Given the description of an element on the screen output the (x, y) to click on. 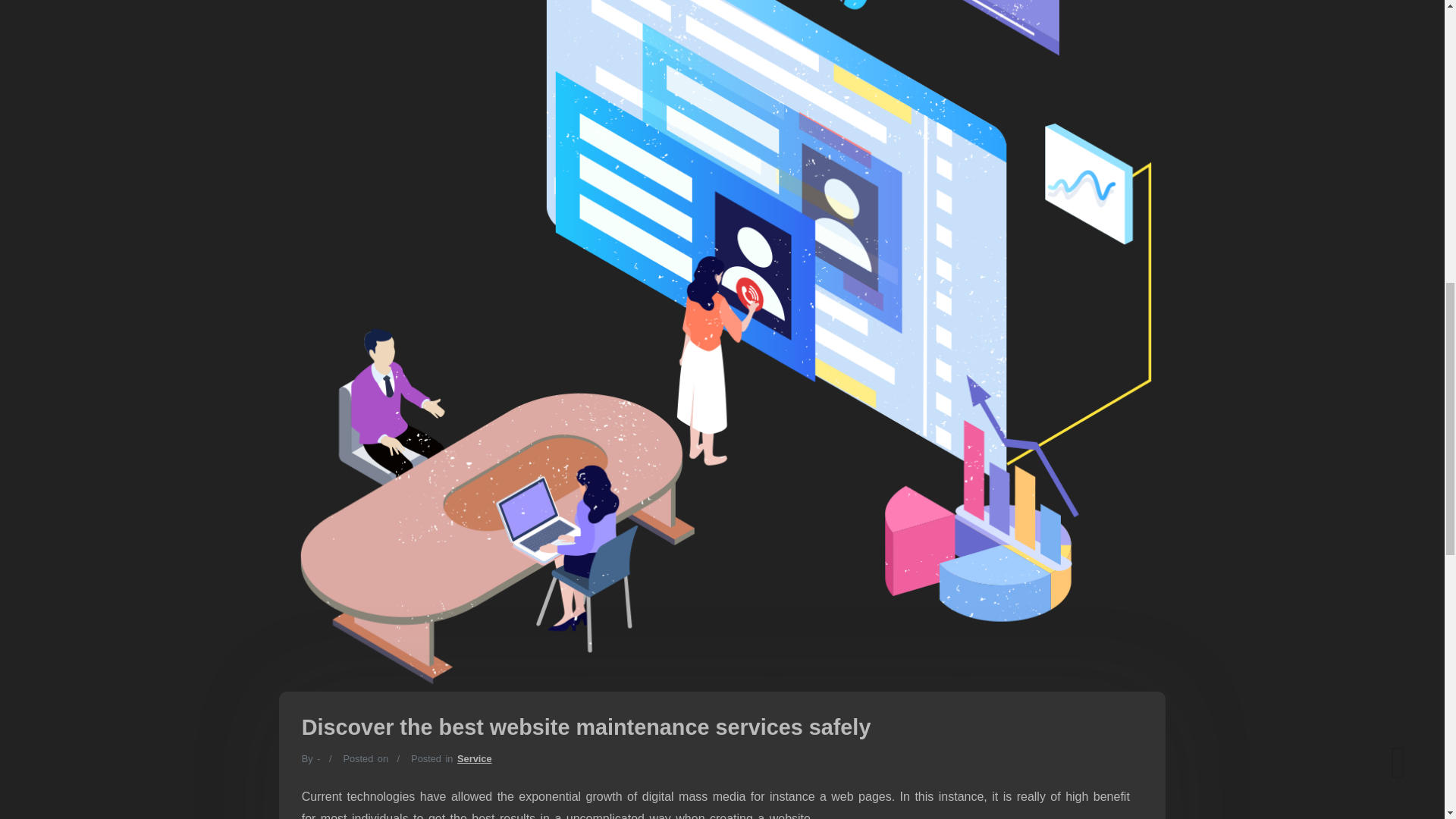
Service (474, 758)
